Given the description of an element on the screen output the (x, y) to click on. 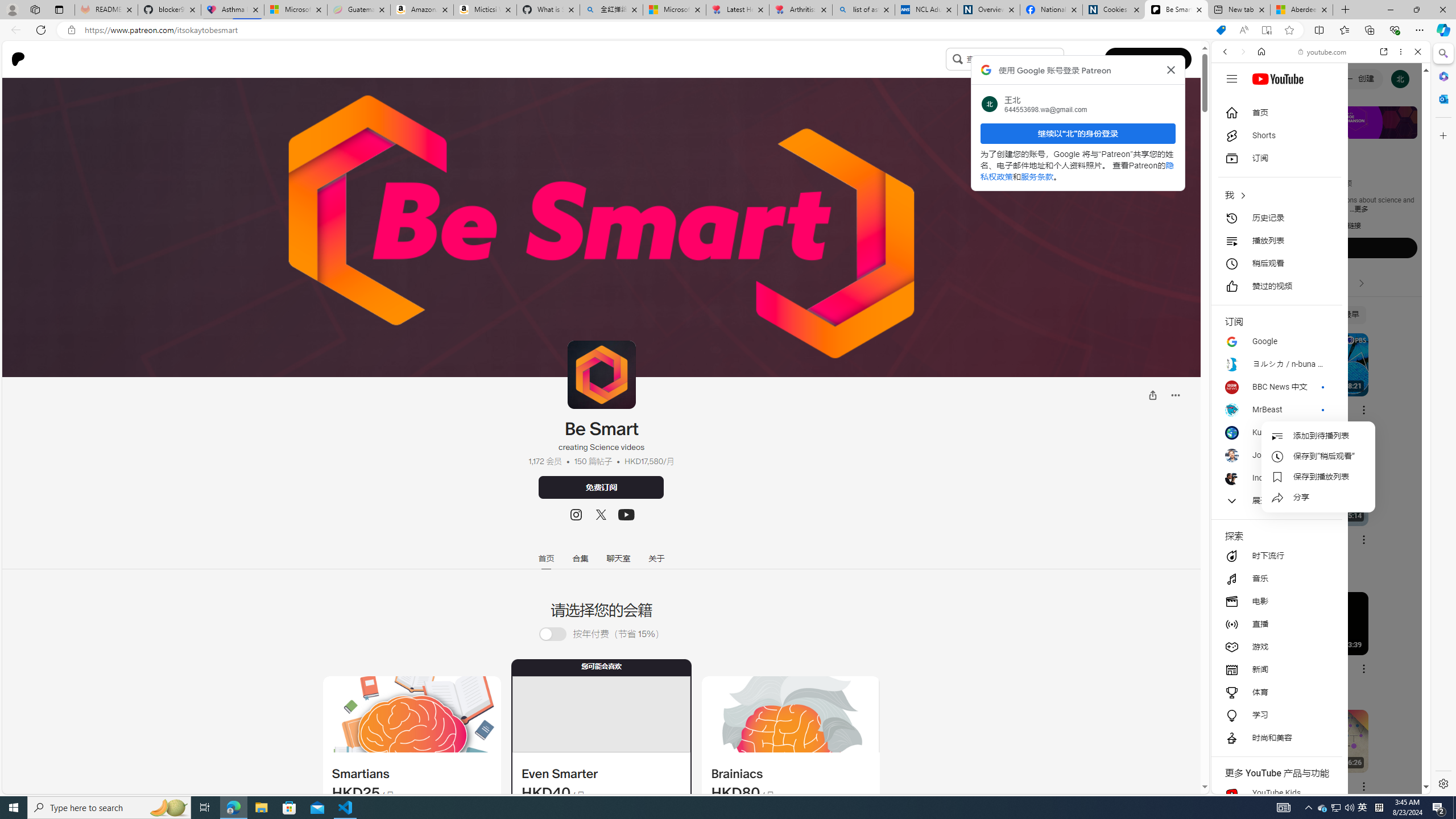
US[ju] (1249, 785)
Class: style-scope tp-yt-iron-icon (1361, 283)
#you (1315, 659)
Side bar (1443, 418)
Home (1261, 51)
Forward (1242, 51)
Shorts (1351, 283)
Google (1275, 341)
patreon.com/itsokaytobesmart (1262, 225)
Close Outlook pane (1442, 98)
